Given the description of an element on the screen output the (x, y) to click on. 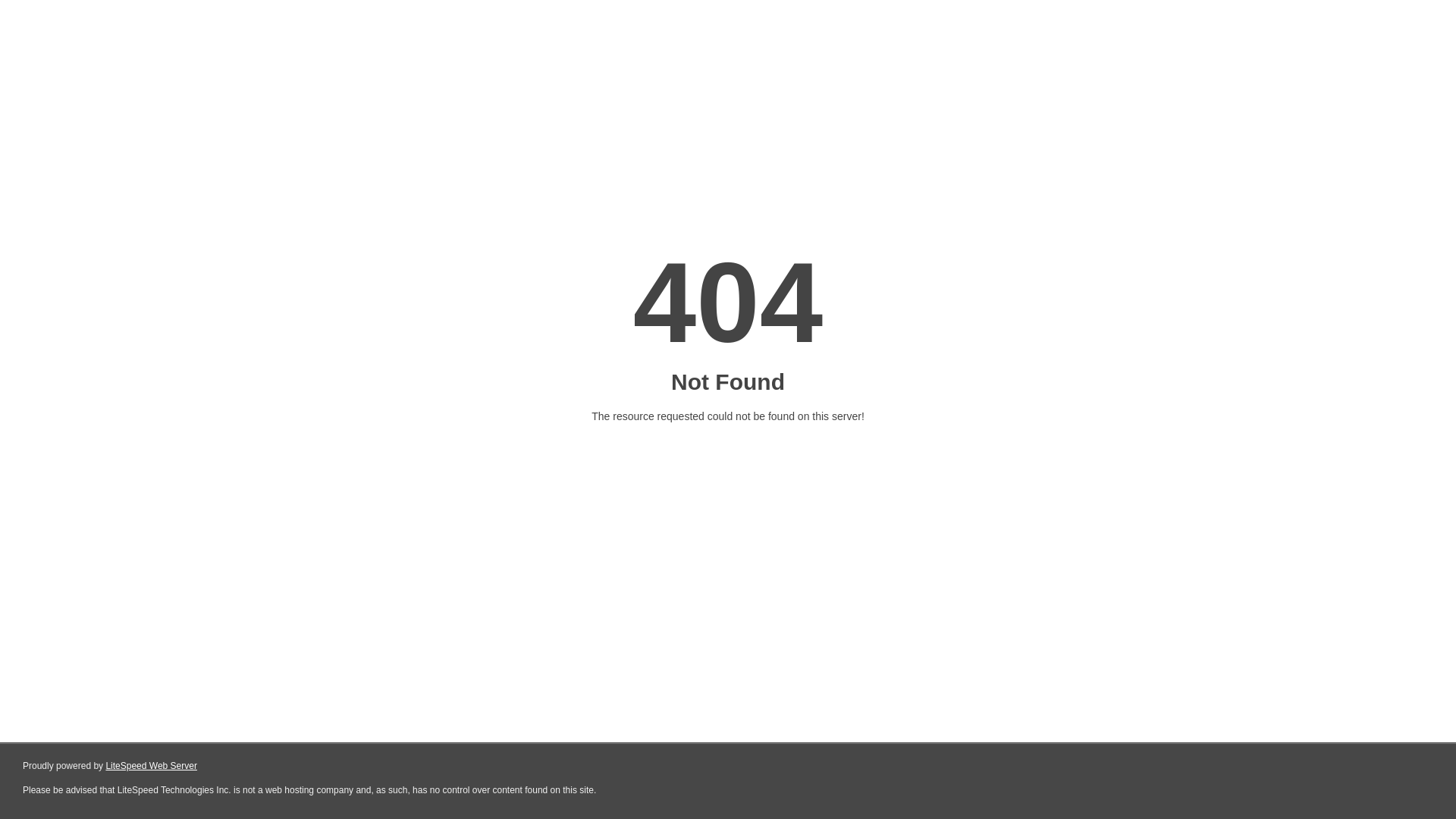
LiteSpeed Web Server (150, 765)
